Given the description of an element on the screen output the (x, y) to click on. 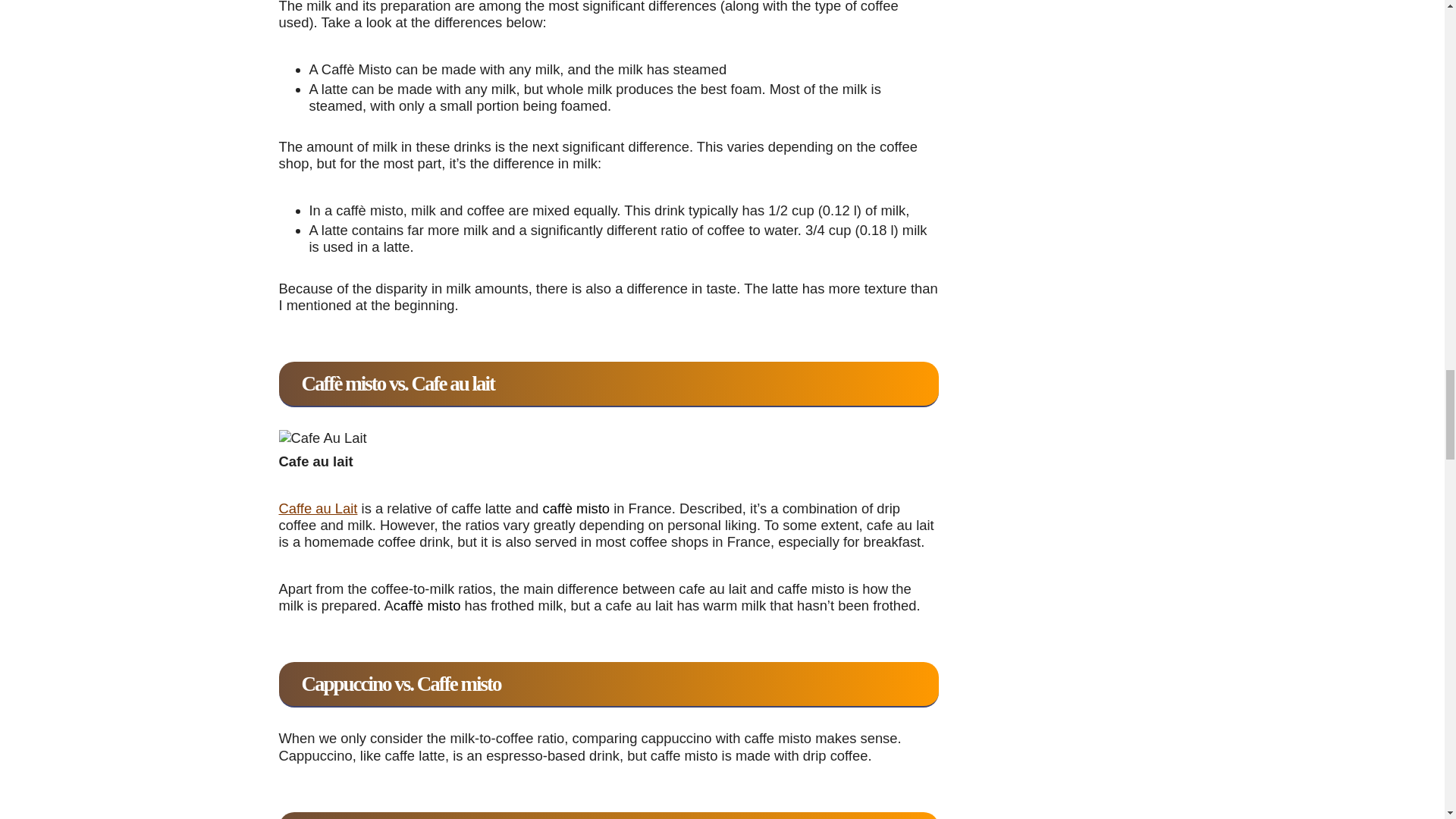
Caffe au Lait (318, 508)
